Given the description of an element on the screen output the (x, y) to click on. 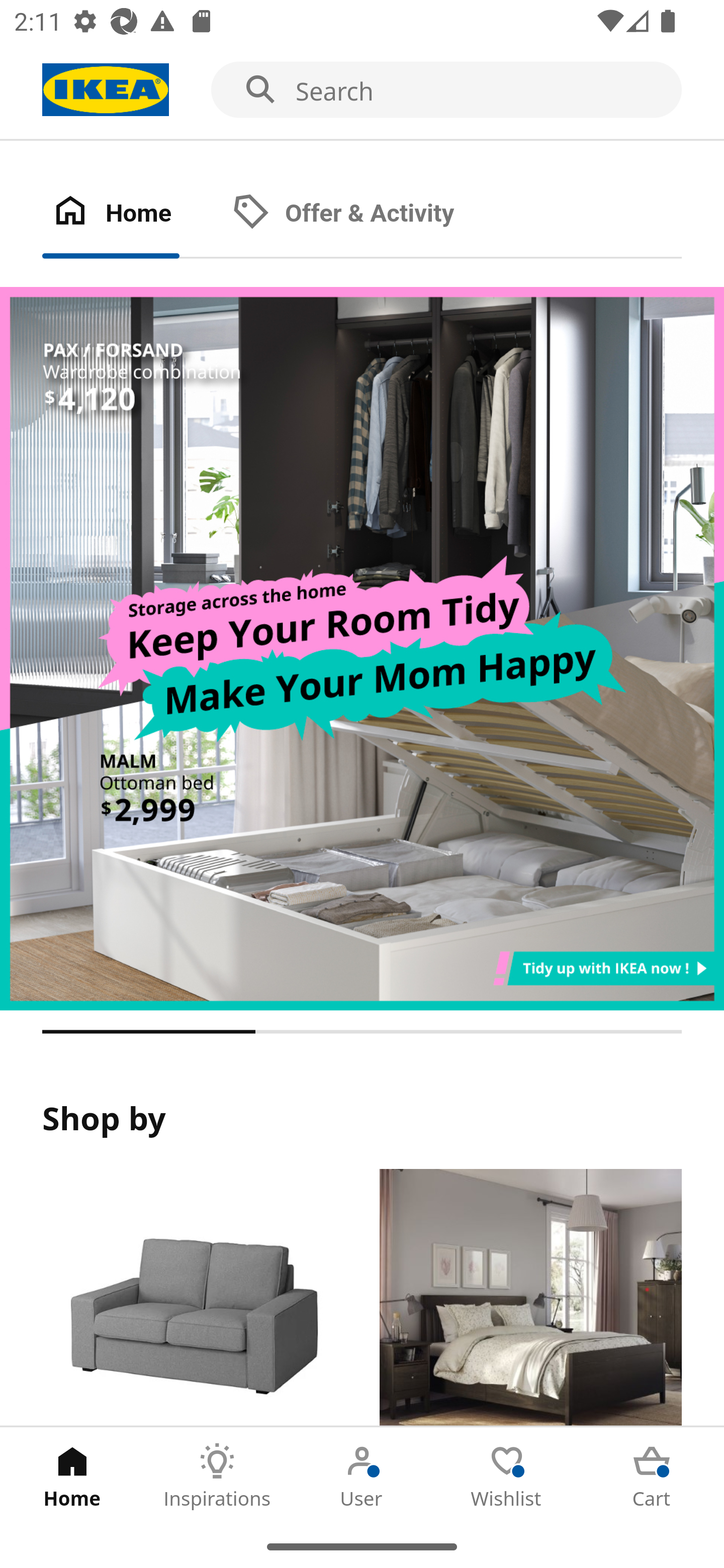
Search (361, 90)
Home
Tab 1 of 2 (131, 213)
Offer & Activity
Tab 2 of 2 (363, 213)
Products (192, 1297)
Rooms (530, 1297)
Home
Tab 1 of 5 (72, 1476)
Inspirations
Tab 2 of 5 (216, 1476)
User
Tab 3 of 5 (361, 1476)
Wishlist
Tab 4 of 5 (506, 1476)
Cart
Tab 5 of 5 (651, 1476)
